Given the description of an element on the screen output the (x, y) to click on. 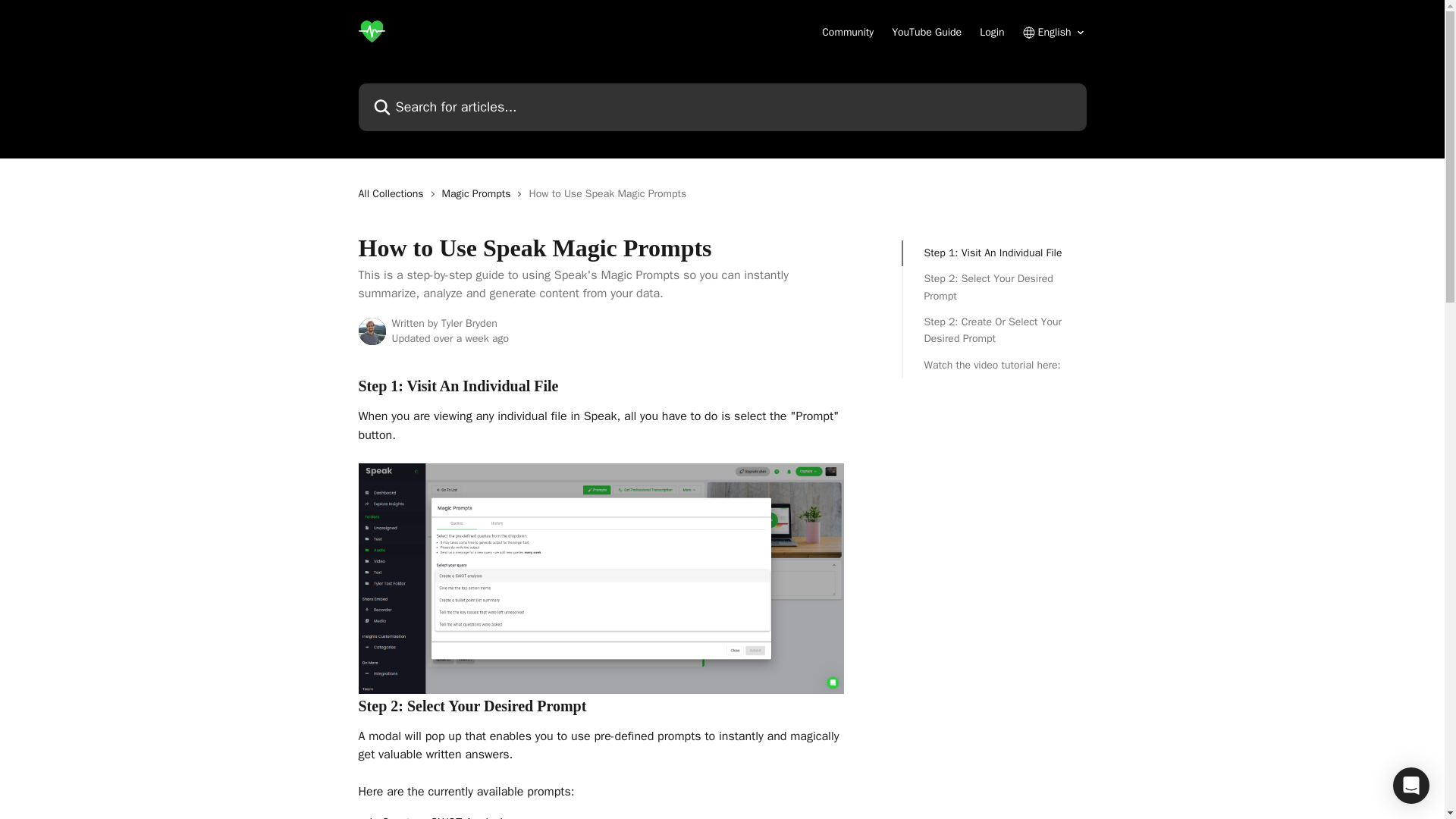
YouTube Guide (925, 32)
Login (991, 32)
Step 1: Visit An Individual File (993, 252)
Magic Prompts (479, 193)
Watch the video tutorial here: (993, 365)
Step 2: Select Your Desired Prompt (993, 287)
Step 2: Create Or Select Your Desired Prompt (993, 330)
All Collections (393, 193)
Community (847, 32)
